Given the description of an element on the screen output the (x, y) to click on. 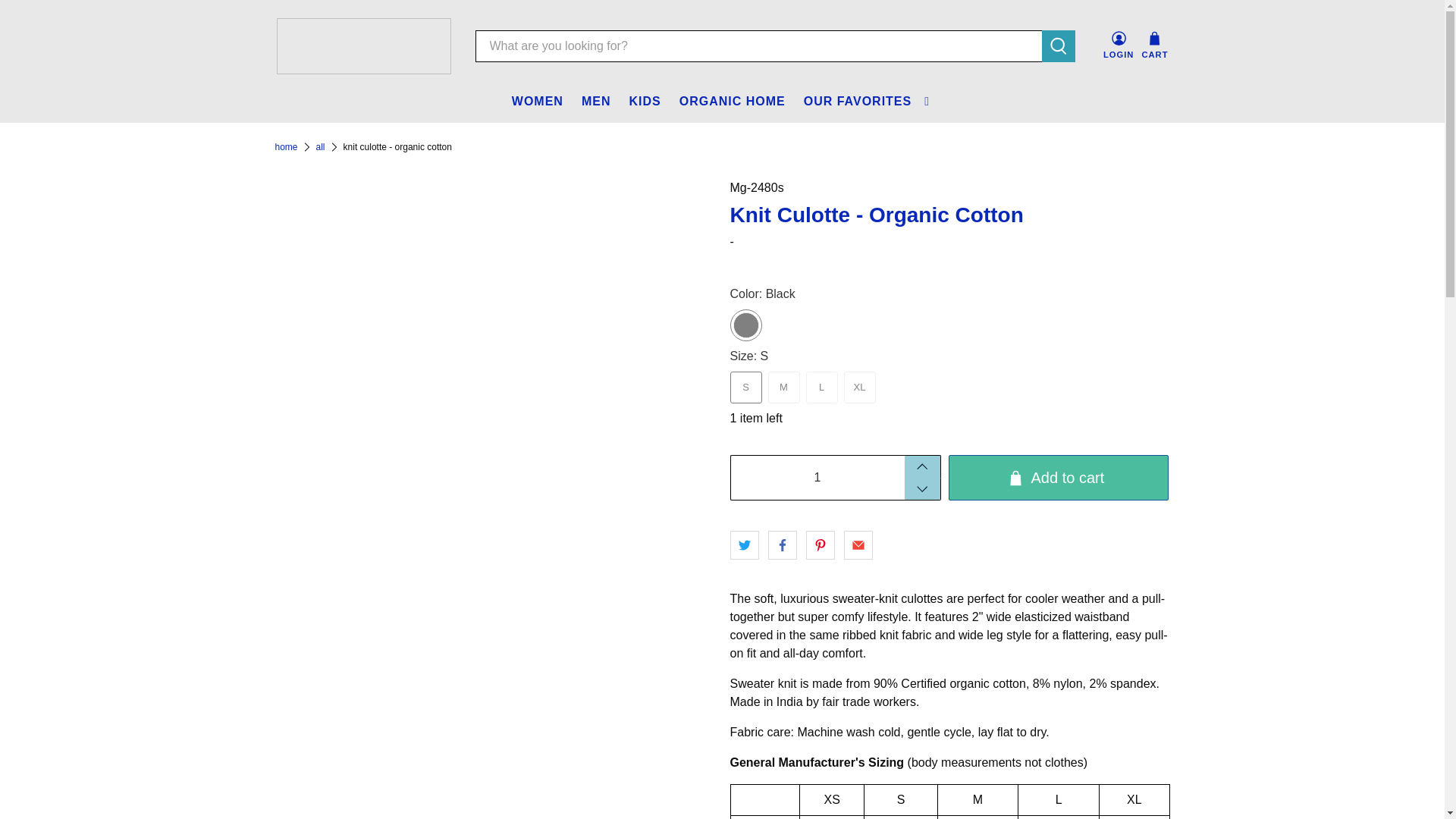
MEN (596, 101)
Natural Clothing Company (362, 46)
Share this on Facebook (781, 544)
OUR FAVORITES (868, 101)
Natural Clothing Company (286, 146)
Share this on Pinterest (819, 544)
WOMEN (537, 101)
CART (1154, 45)
ORGANIC HOME (731, 101)
1 (816, 477)
Email this to a friend (857, 544)
KIDS (644, 101)
Share this on Twitter (743, 544)
